Given the description of an element on the screen output the (x, y) to click on. 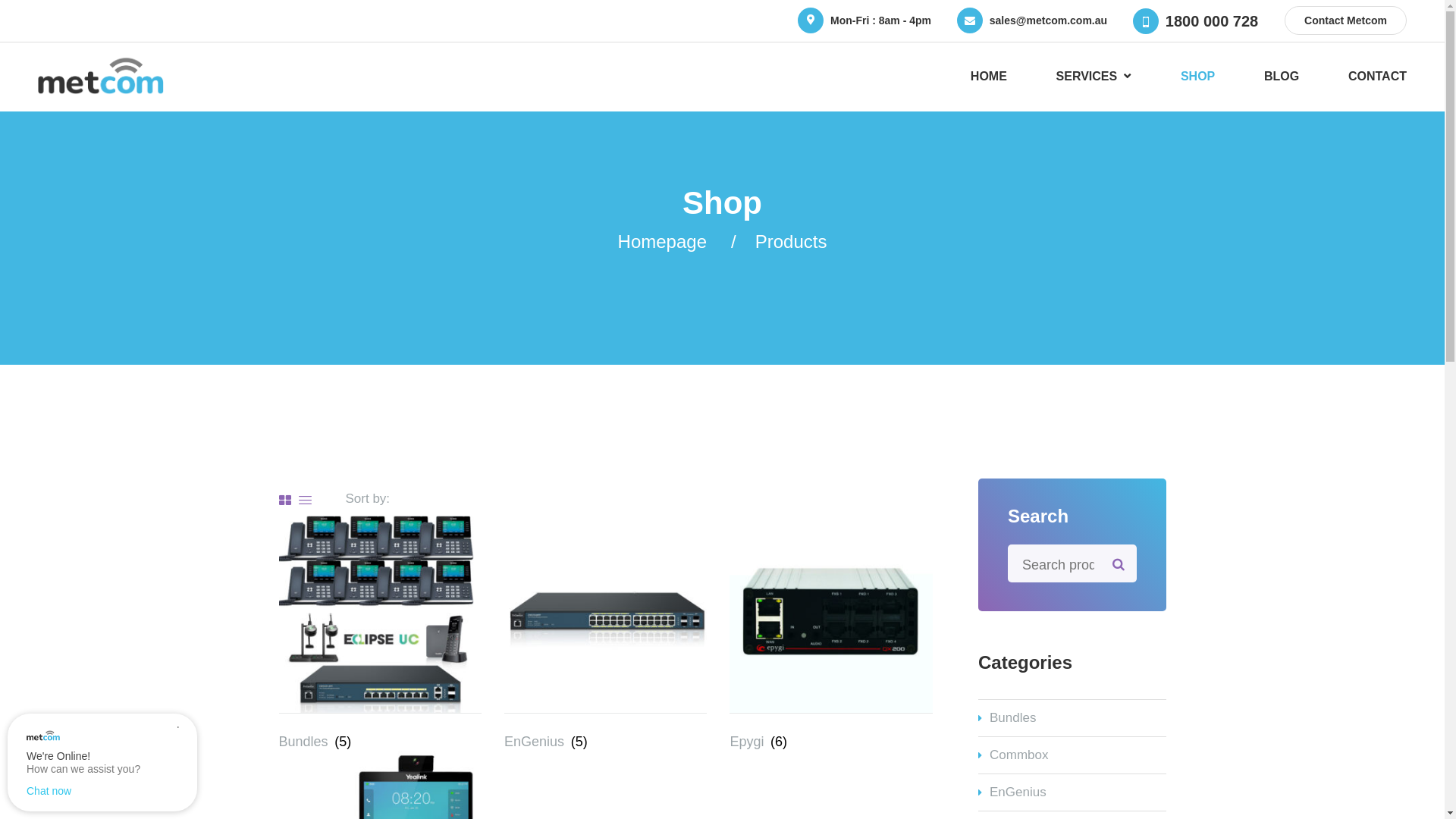
Search Element type: text (1118, 563)
HOME Element type: text (988, 76)
Bundles (5) Element type: text (380, 677)
EnGenius (5) Element type: text (605, 677)
Epygi (6) Element type: text (830, 677)
1800 000 728 Element type: text (1211, 20)
EnGenius Element type: text (1072, 792)
Bundles Element type: text (1072, 717)
Commbox Element type: text (1072, 755)
SHOP Element type: text (1197, 76)
BLOG Element type: text (1281, 76)
Homepage Element type: text (662, 241)
sales@metcom.com.au Element type: text (1048, 20)
Contact Metcom Element type: text (1345, 20)
SERVICES Element type: text (1094, 76)
CONTACT Element type: text (1377, 76)
